Given the description of an element on the screen output the (x, y) to click on. 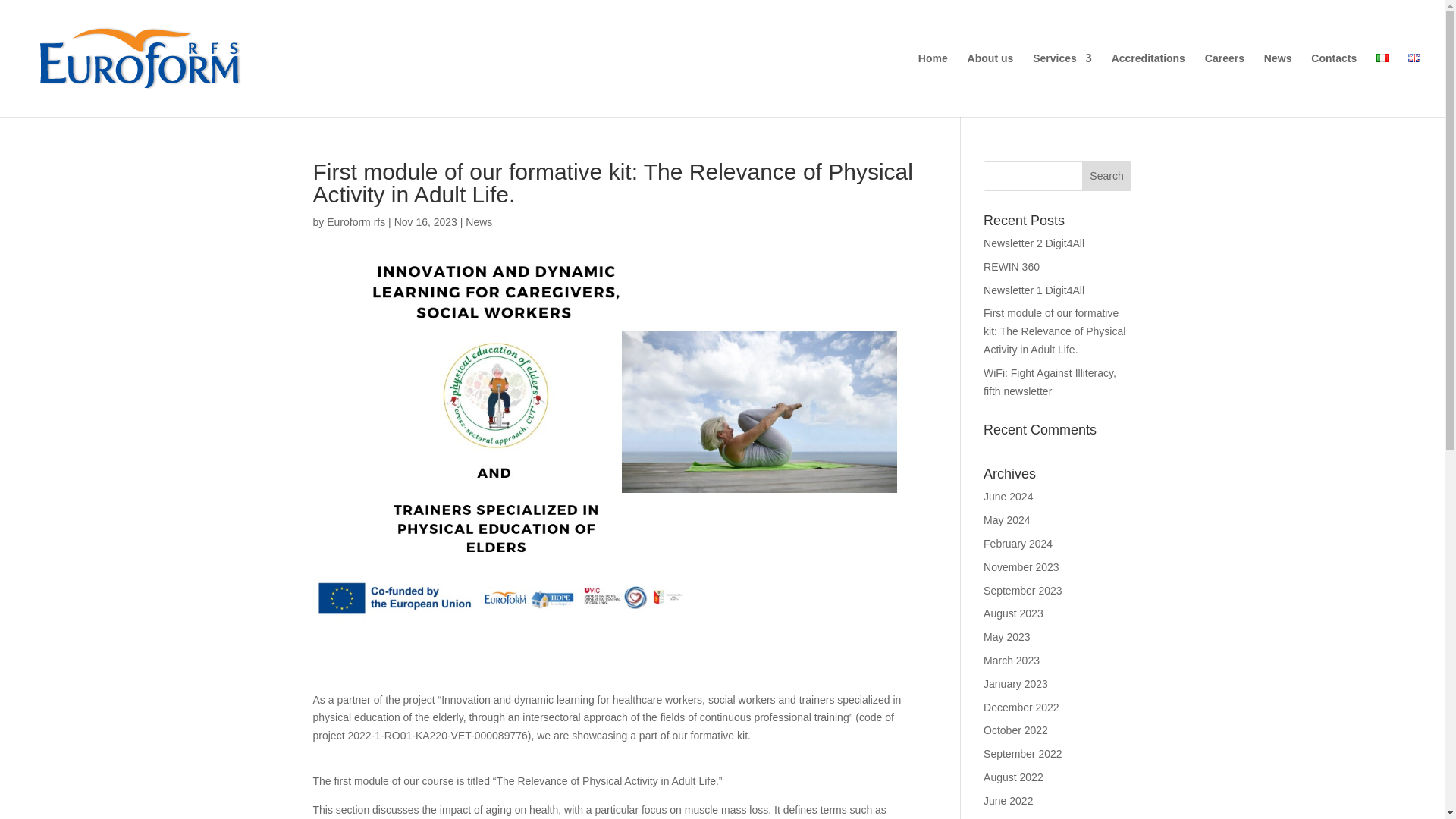
Posts by Euroform rfs (355, 222)
Accreditations (1148, 85)
Search (1106, 175)
Services (1062, 85)
